Given the description of an element on the screen output the (x, y) to click on. 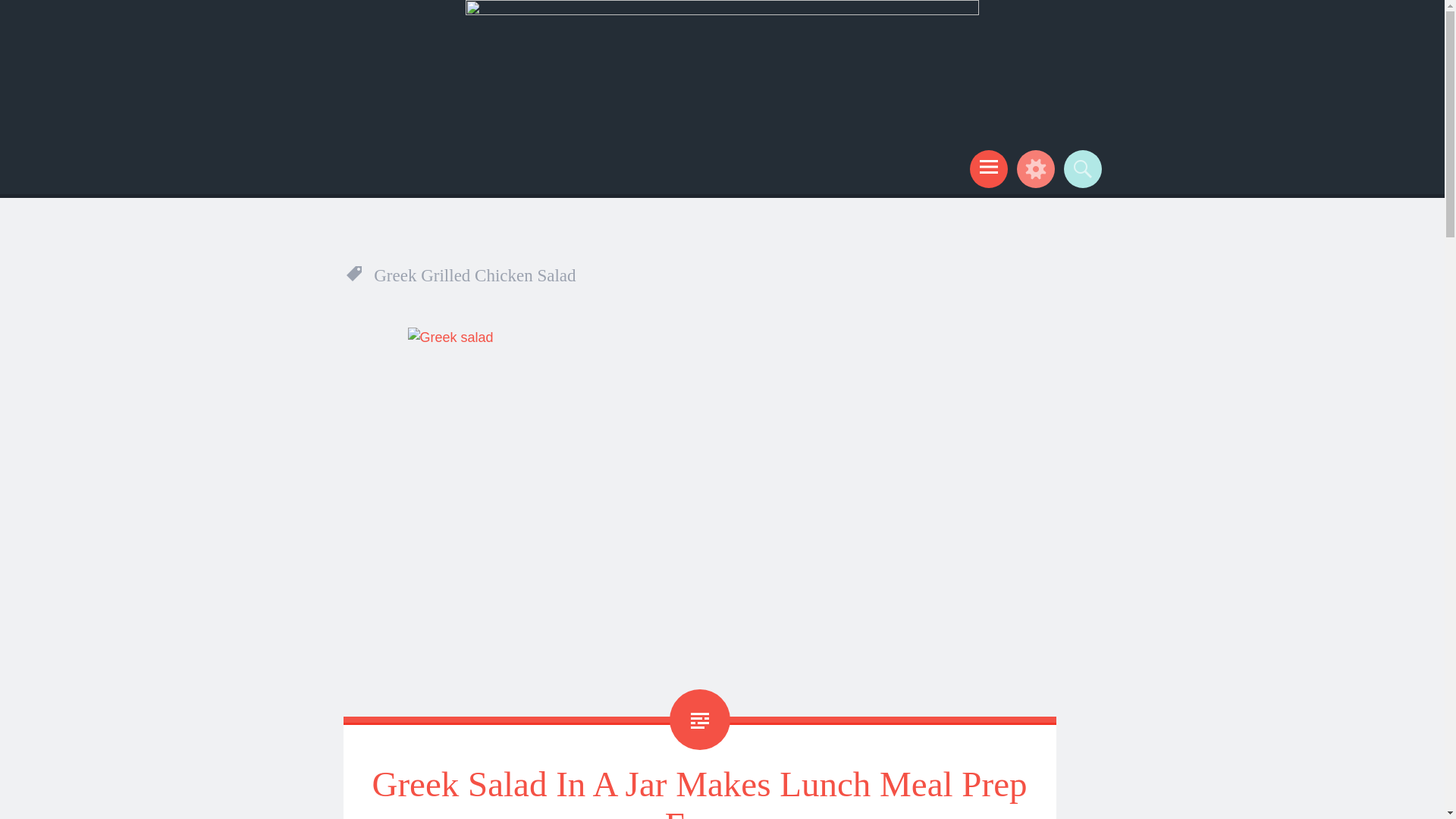
Search (1080, 168)
Menu (985, 168)
Widgets (1032, 168)
Easy Peasy Pleasy (406, 158)
